Given the description of an element on the screen output the (x, y) to click on. 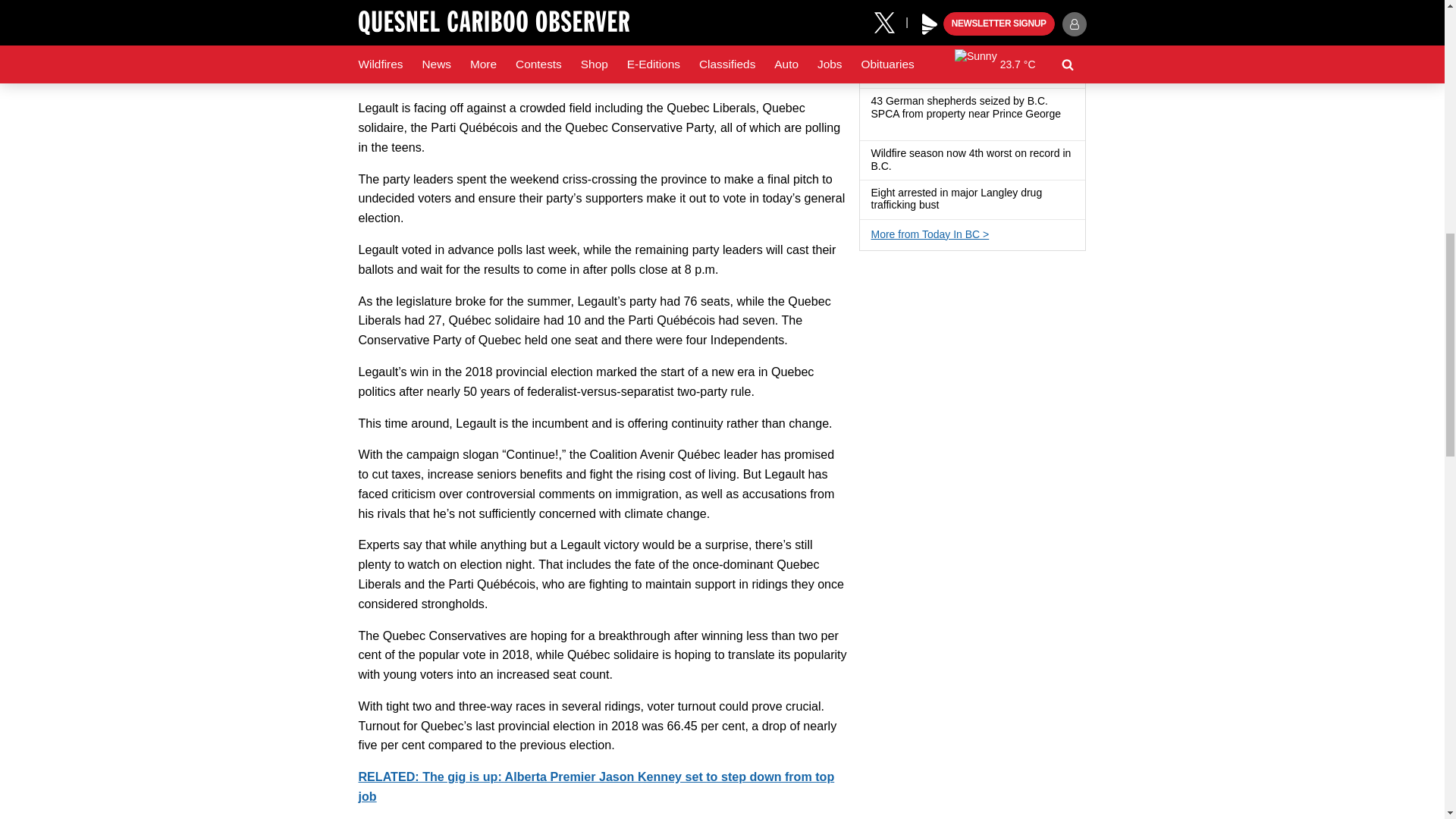
related story (596, 786)
Has a gallery (876, 127)
Has a gallery (947, 205)
